Given the description of an element on the screen output the (x, y) to click on. 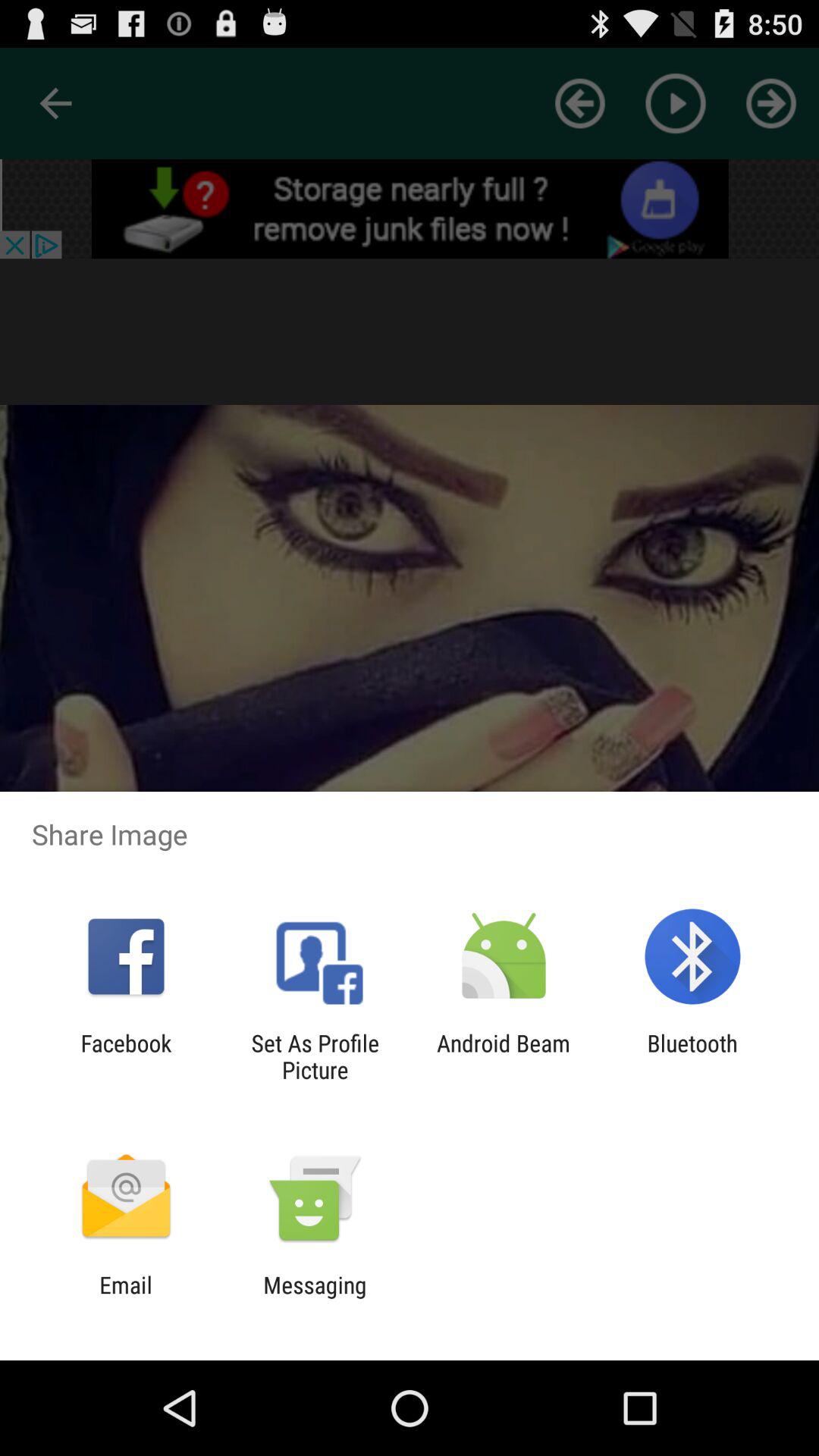
press the app at the bottom right corner (692, 1056)
